Given the description of an element on the screen output the (x, y) to click on. 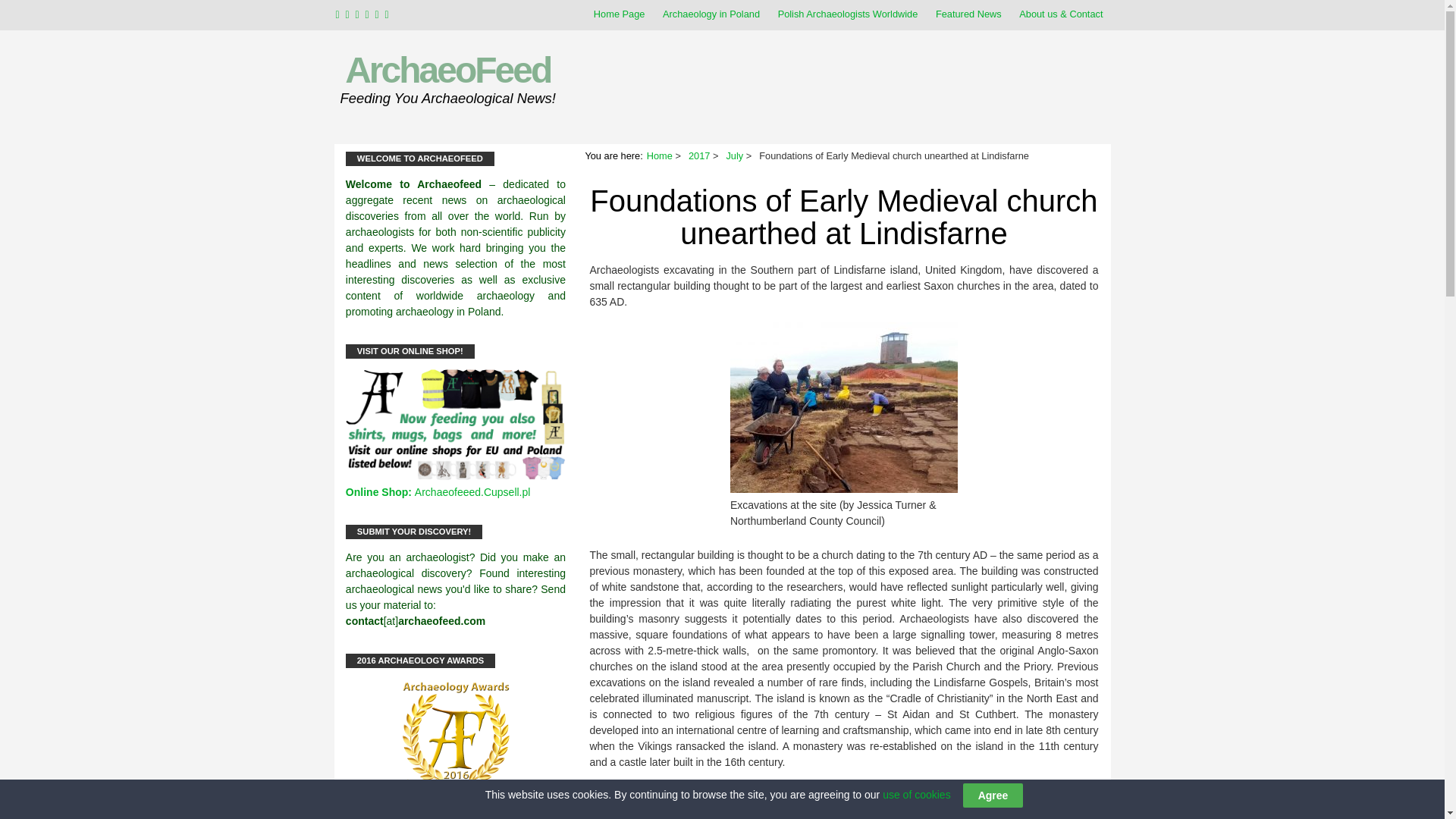
July (733, 155)
Visit our online shop! (456, 476)
Home (659, 155)
2016 Archaeology Awards (456, 735)
Archaeology in Poland (711, 13)
ArchaeoFeed (447, 69)
Home Page (619, 13)
Polish Archaeologists Worldwide (848, 13)
Featured News (968, 13)
2017 (699, 155)
